Given the description of an element on the screen output the (x, y) to click on. 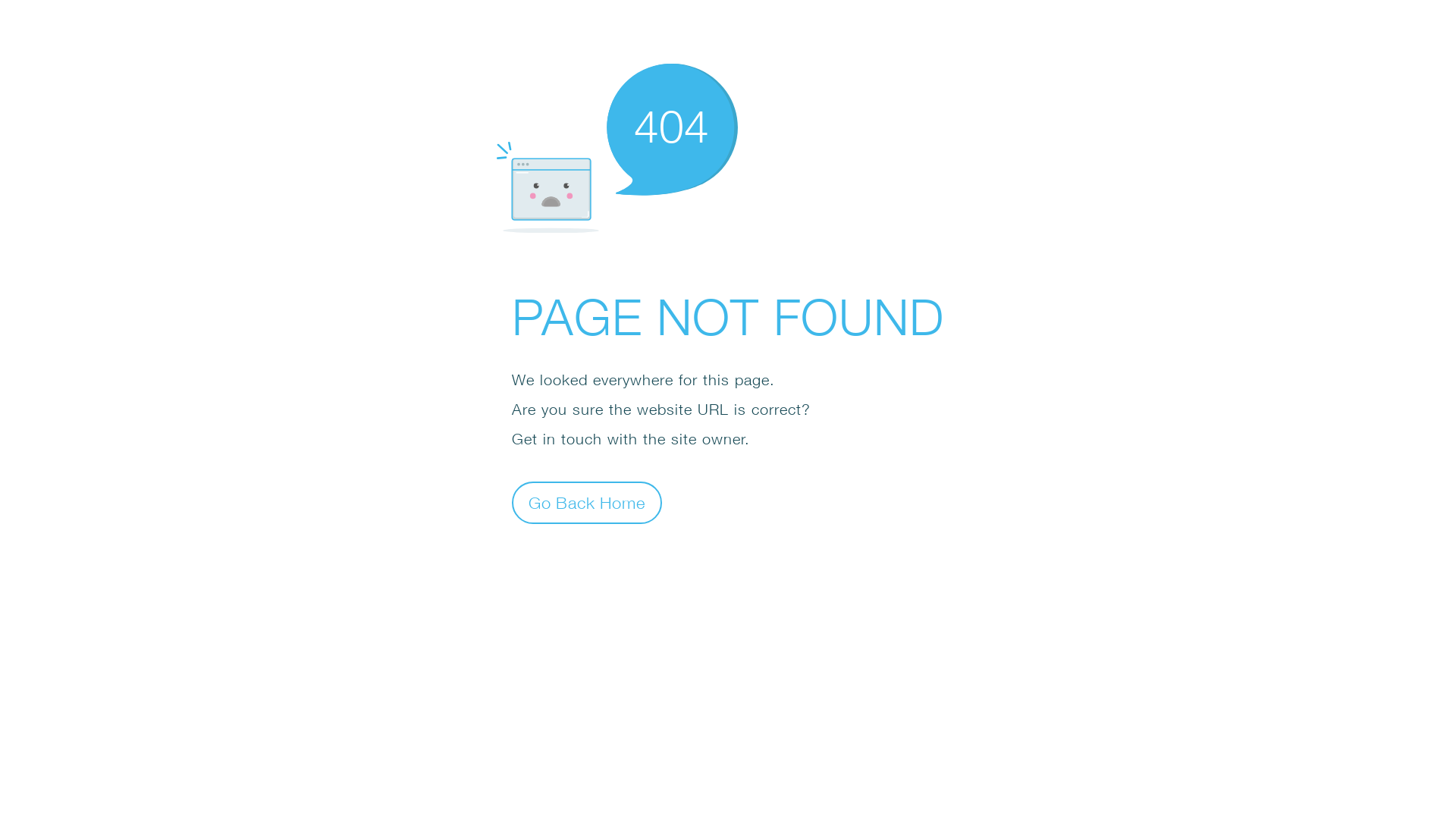
Go Back Home Element type: text (586, 502)
